Given the description of an element on the screen output the (x, y) to click on. 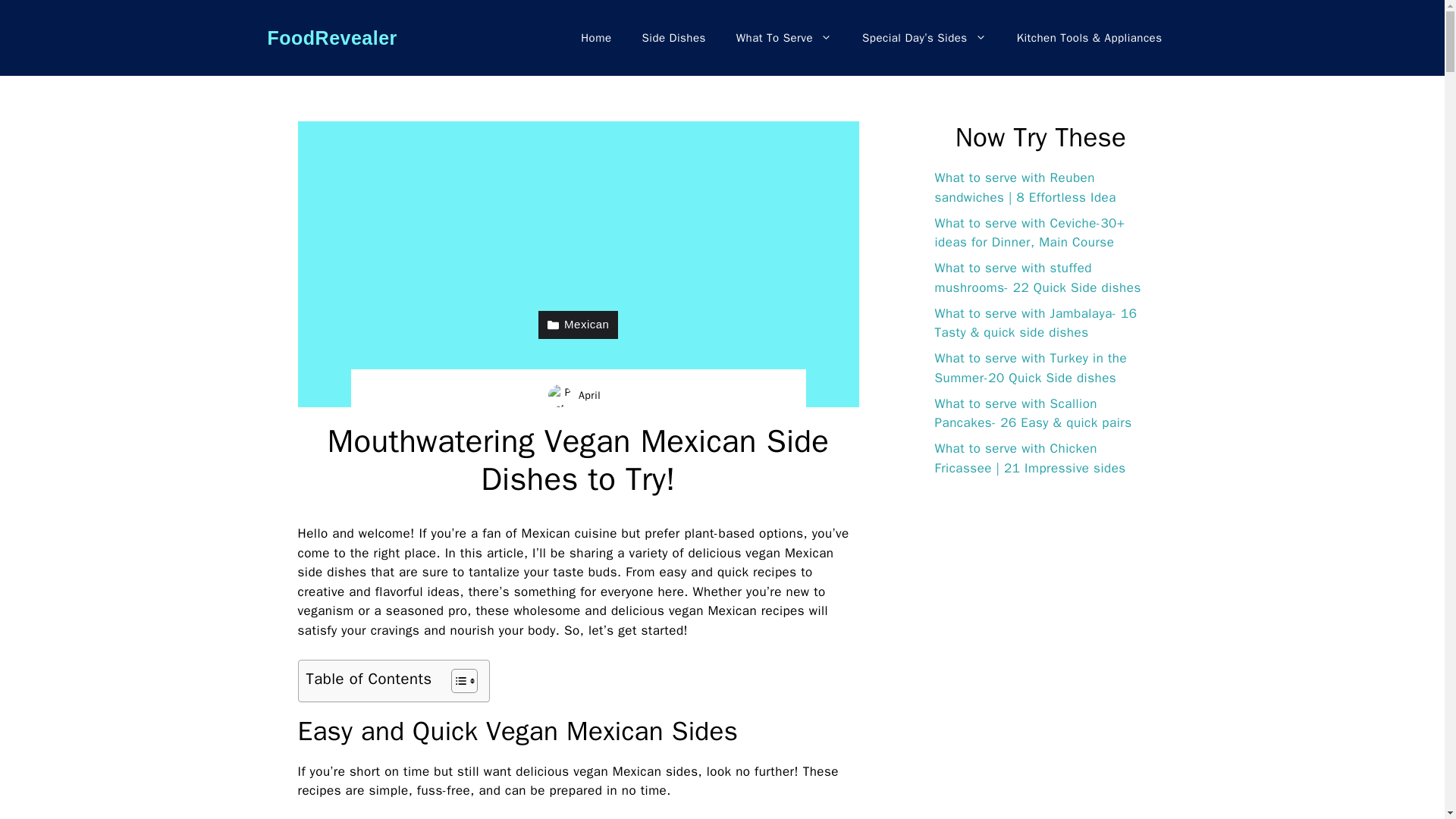
Home (596, 37)
Side Dishes (673, 37)
FoodRevealer (331, 37)
Mexican (578, 325)
April (588, 395)
What To Serve (783, 37)
